Given the description of an element on the screen output the (x, y) to click on. 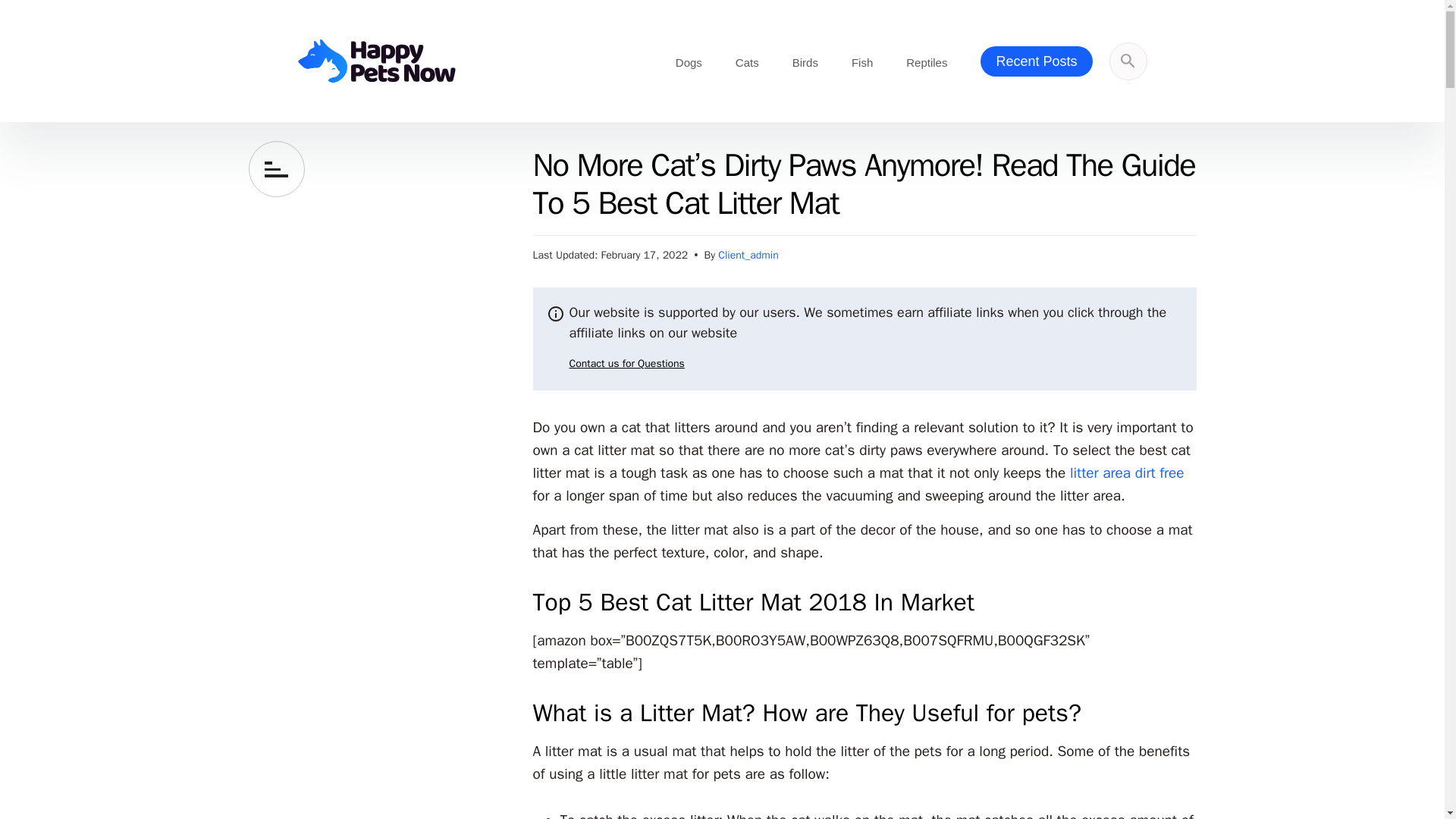
litter area dirt free (1127, 473)
Contact us for Questions (615, 363)
Search (1037, 212)
Recent Posts (1035, 60)
